Given the description of an element on the screen output the (x, y) to click on. 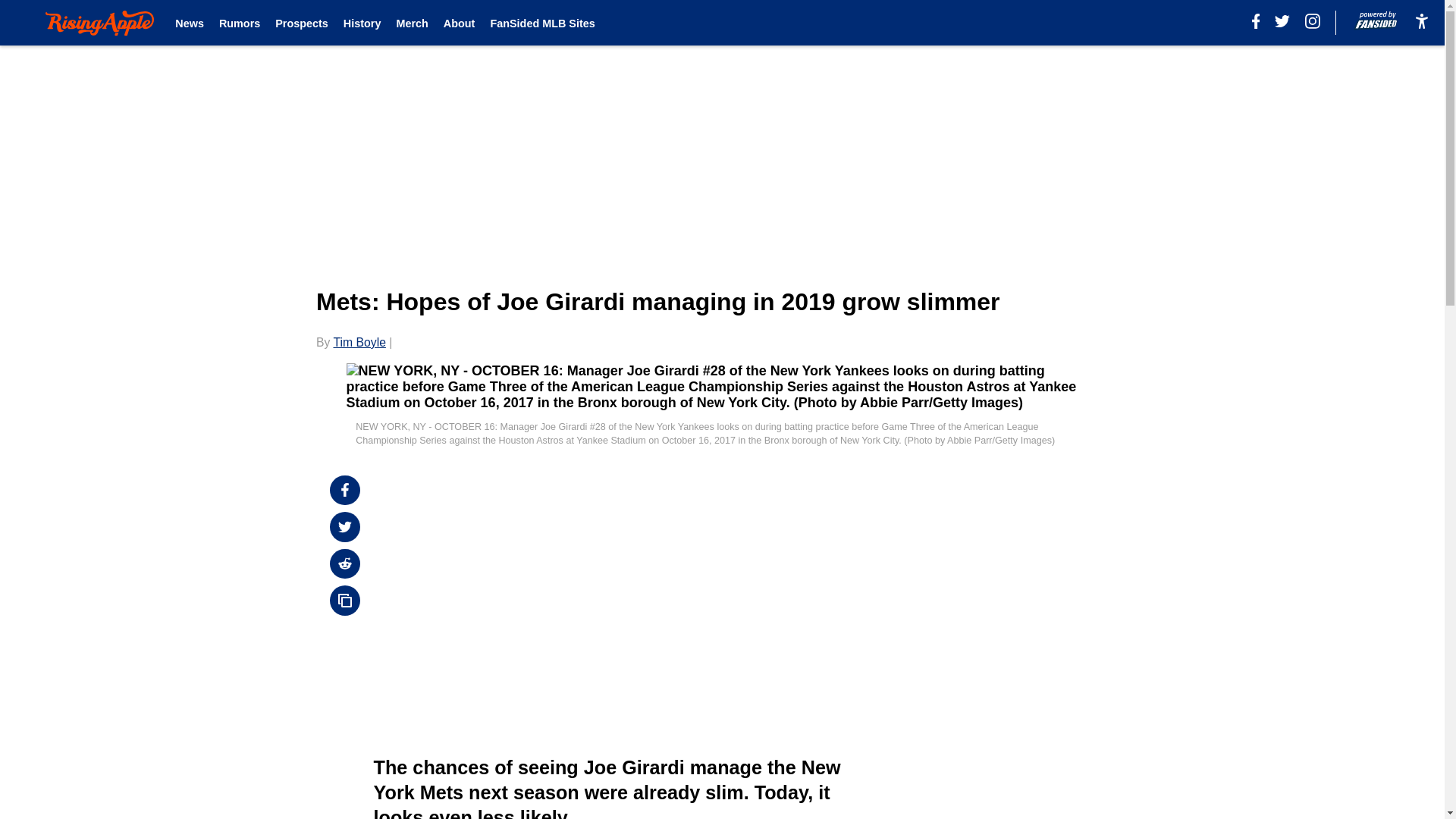
About (460, 23)
FanSided MLB Sites (541, 23)
Rumors (239, 23)
Tim Boyle (359, 341)
Prospects (302, 23)
History (362, 23)
Merch (412, 23)
News (188, 23)
